Given the description of an element on the screen output the (x, y) to click on. 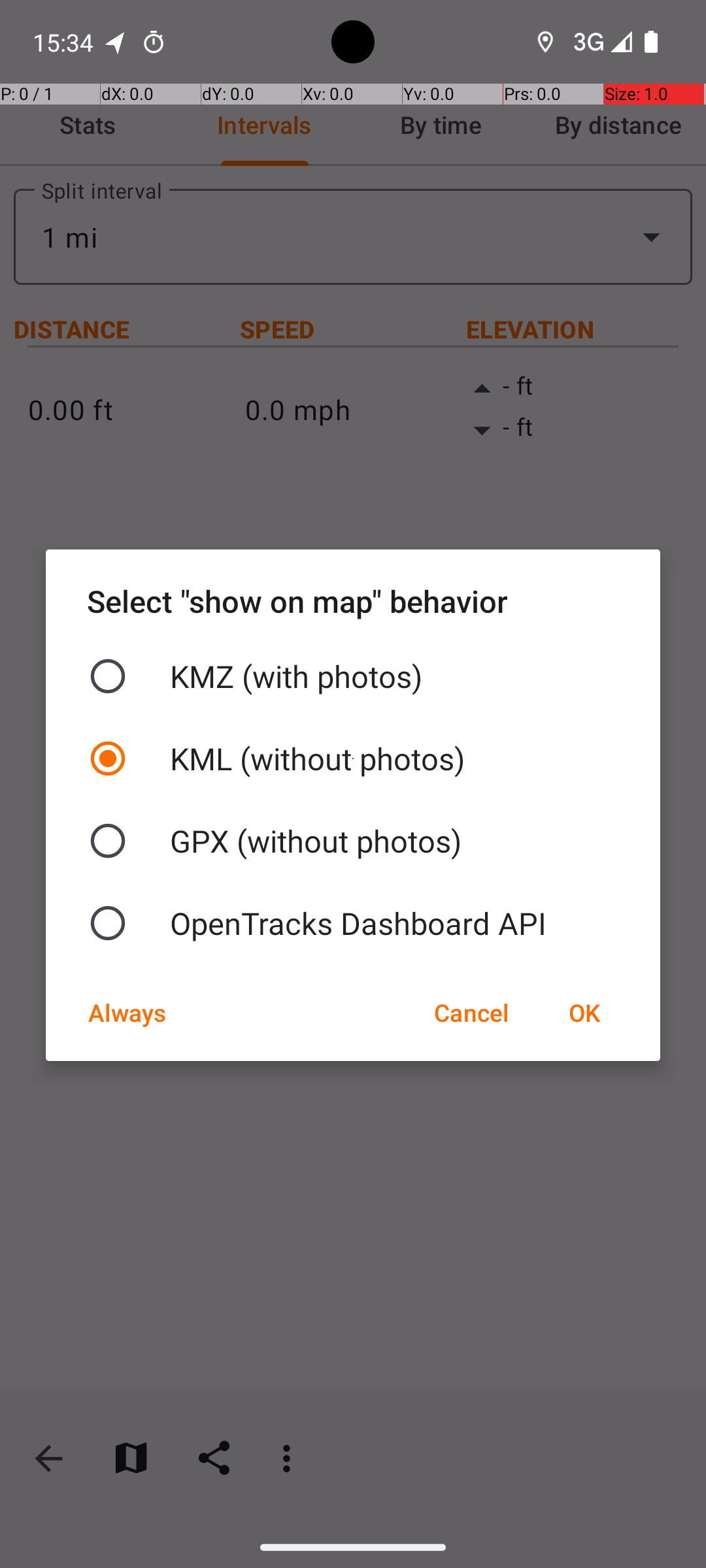
Select "show on map" behavior Element type: android.widget.TextView (352, 600)
KMZ (with photos) Element type: android.widget.CheckedTextView (352, 676)
KML (without photos) Element type: android.widget.CheckedTextView (352, 758)
GPX (without photos) Element type: android.widget.CheckedTextView (352, 840)
OpenTracks Dashboard API Element type: android.widget.CheckedTextView (352, 923)
